Given the description of an element on the screen output the (x, y) to click on. 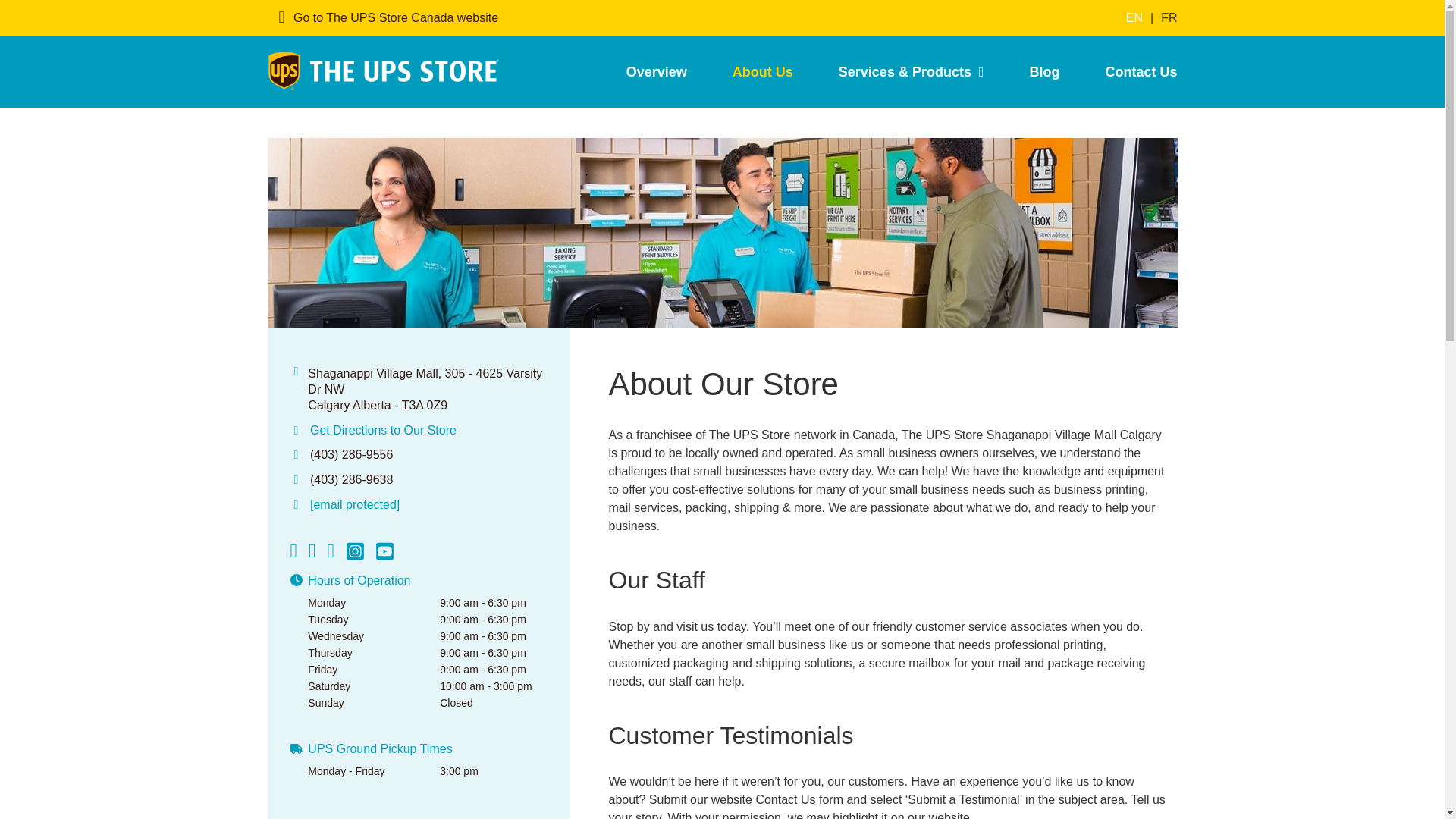
EN (1133, 17)
Get Directions to Our Store (383, 430)
About Us (762, 71)
Blog (1043, 71)
Contact Us (1128, 71)
Overview (657, 71)
Go to The UPS Store Canada website (389, 17)
FR (1168, 17)
